Given the description of an element on the screen output the (x, y) to click on. 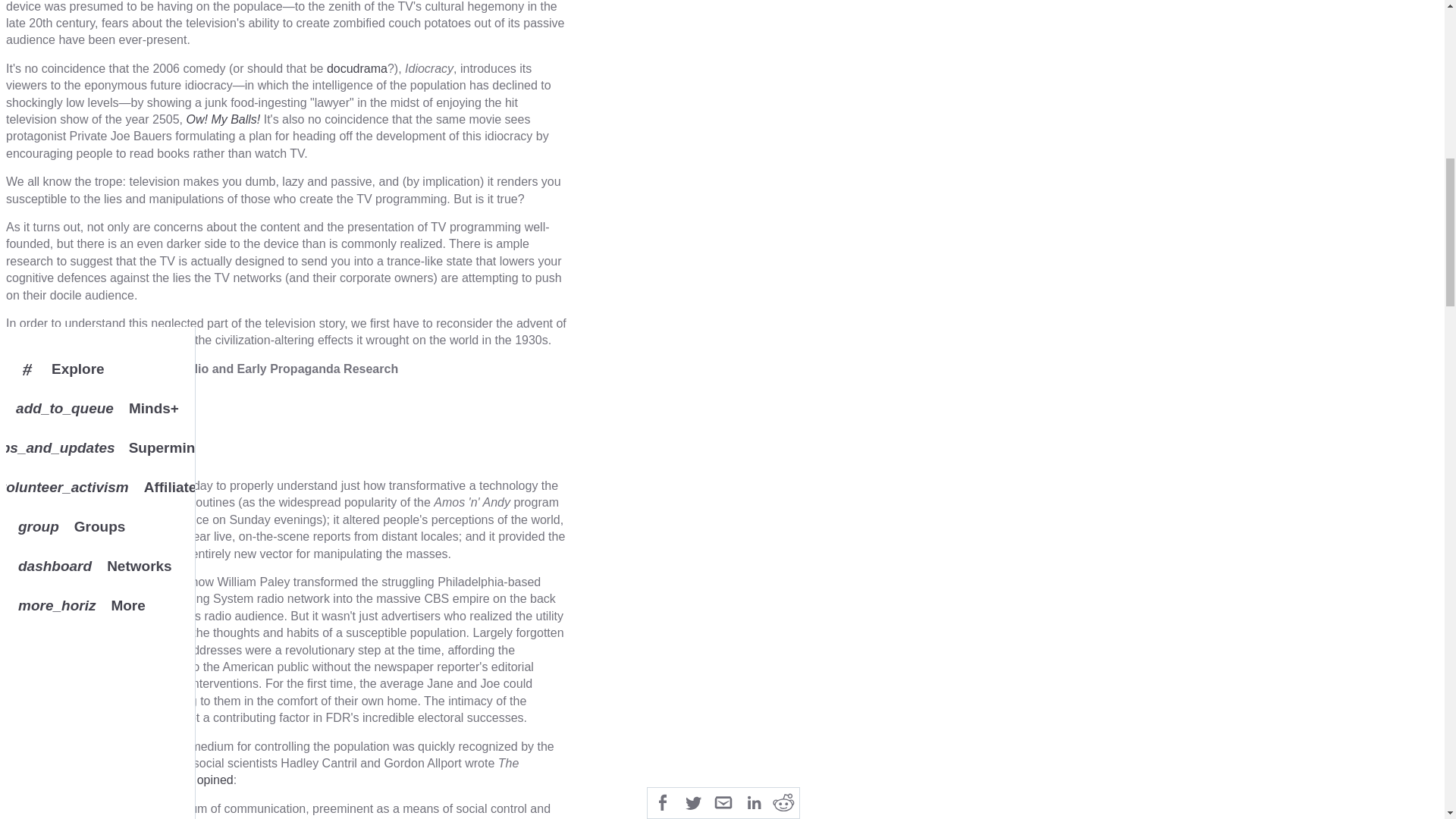
Email (722, 0)
fireside chat (115, 649)
Reddit (783, 0)
LinkedIn (753, 0)
they opined (201, 779)
reportedly (32, 519)
Twitter (692, 0)
Last week (33, 581)
Facebook (662, 0)
docudrama (356, 68)
Ow! My Balls! (223, 119)
